Given the description of an element on the screen output the (x, y) to click on. 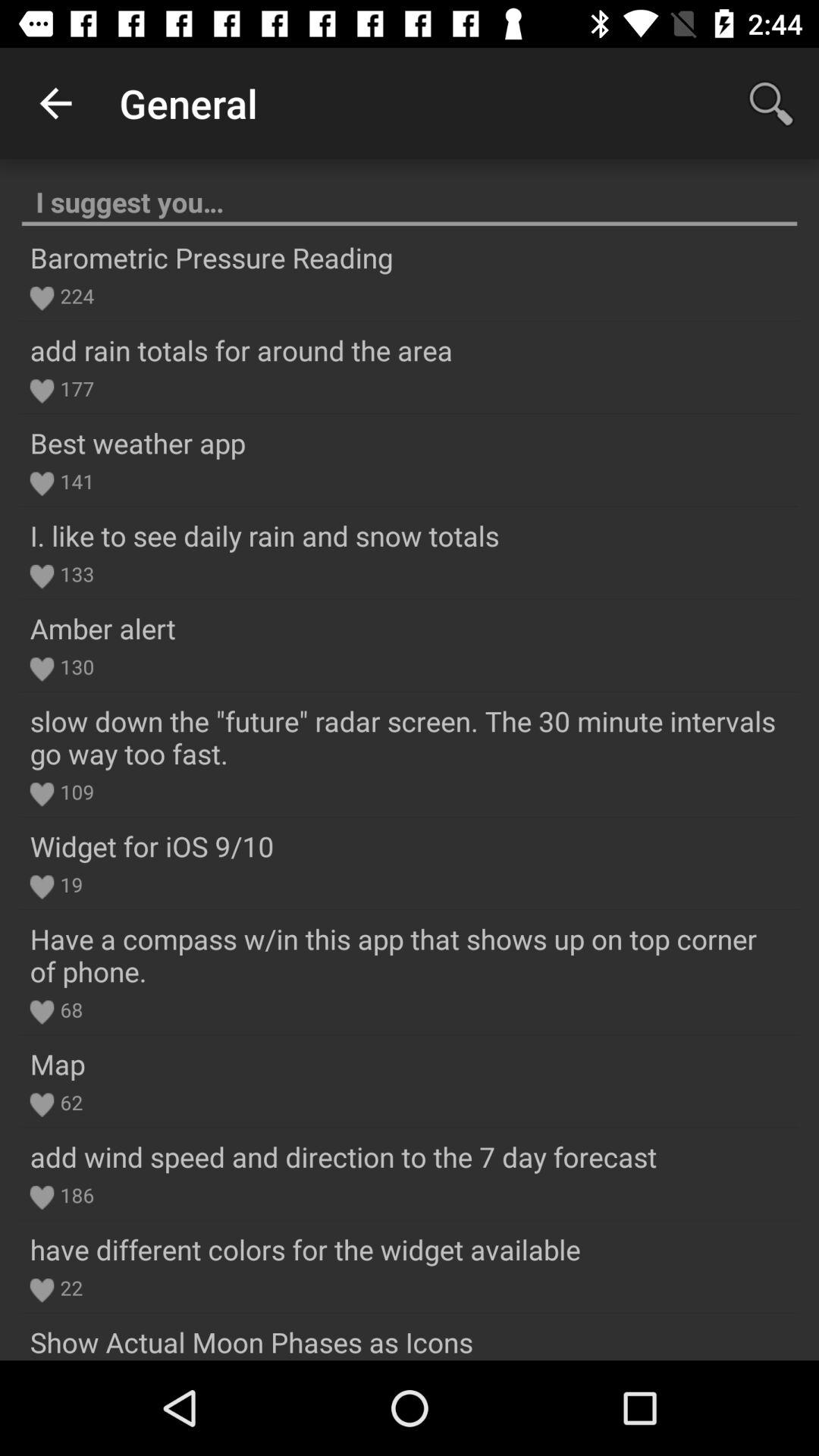
click item above the 130 icon (102, 628)
